Given the description of an element on the screen output the (x, y) to click on. 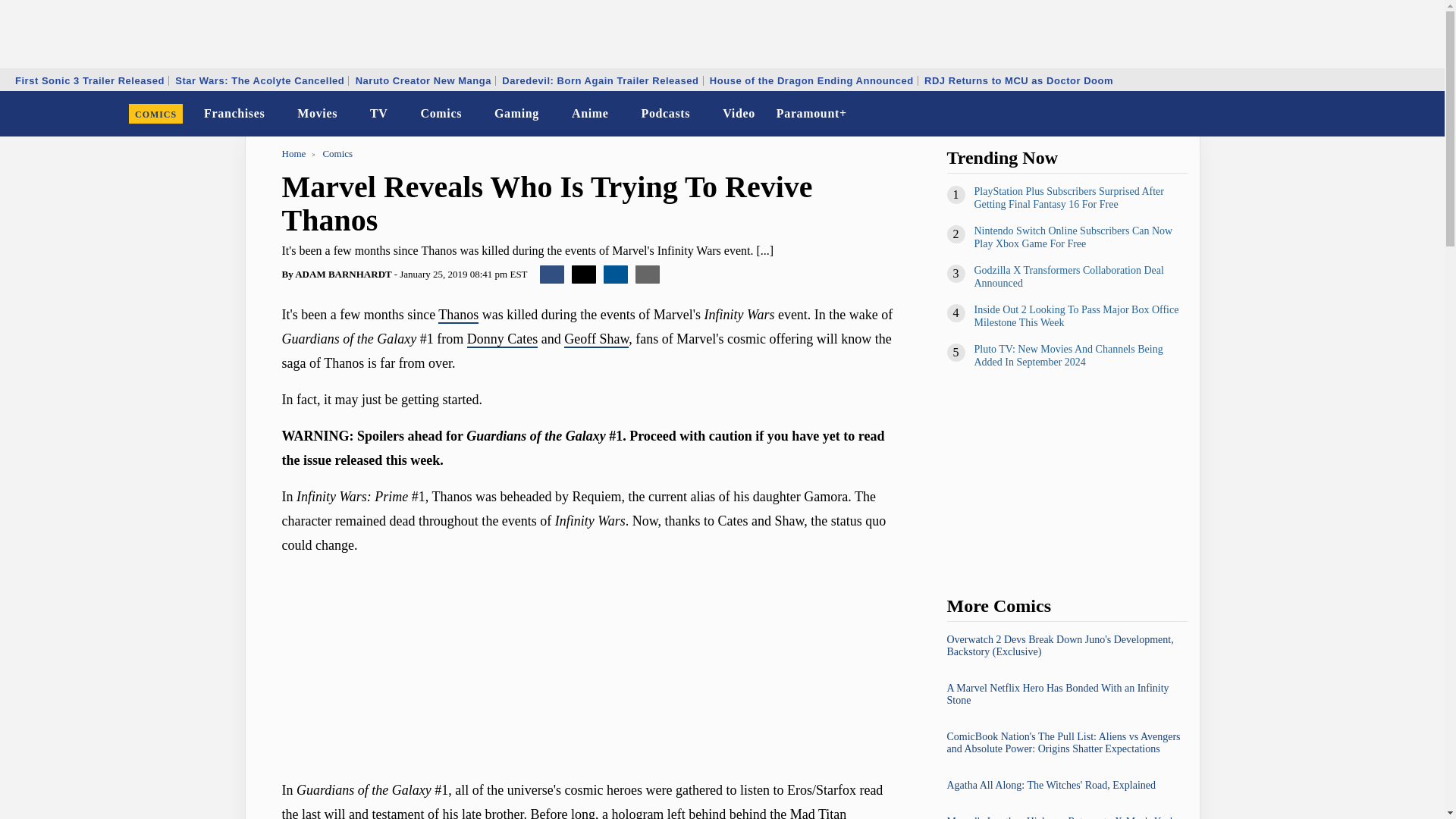
Star Wars: The Acolyte Cancelled (259, 80)
First Sonic 3 Trailer Released (89, 80)
RDJ Returns to MCU as Doctor Doom (1018, 80)
Movies (317, 113)
Dark Mode (1394, 113)
Daredevil: Born Again Trailer Released (599, 80)
House of the Dragon Ending Announced (811, 80)
Search (1422, 114)
COMICS (155, 113)
Naruto Creator New Manga (423, 80)
